Given the description of an element on the screen output the (x, y) to click on. 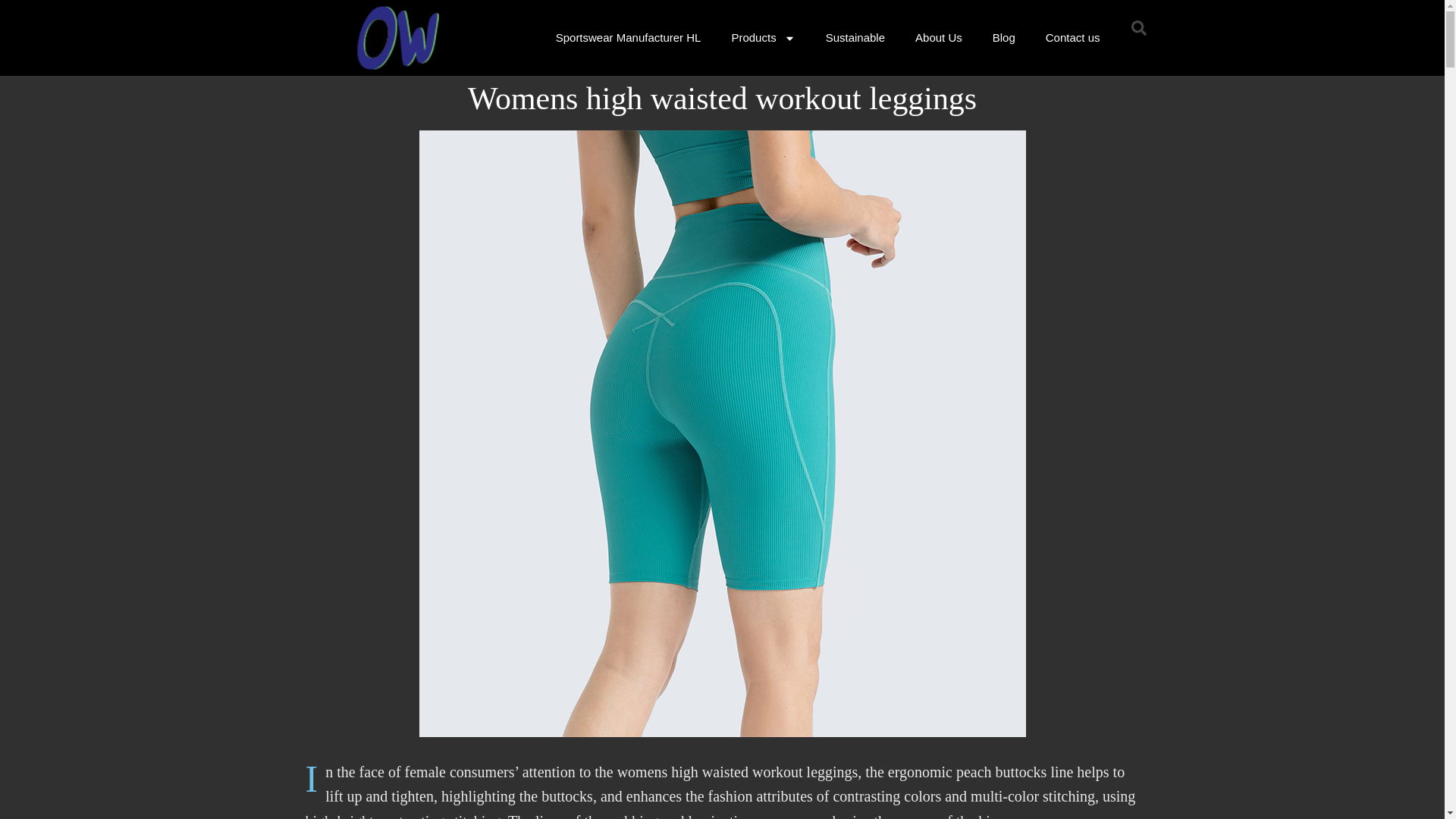
Products (762, 38)
Contact us (1072, 38)
Sustainable (854, 38)
About Us (937, 38)
Sportswear Manufacturer HL (628, 38)
